Given the description of an element on the screen output the (x, y) to click on. 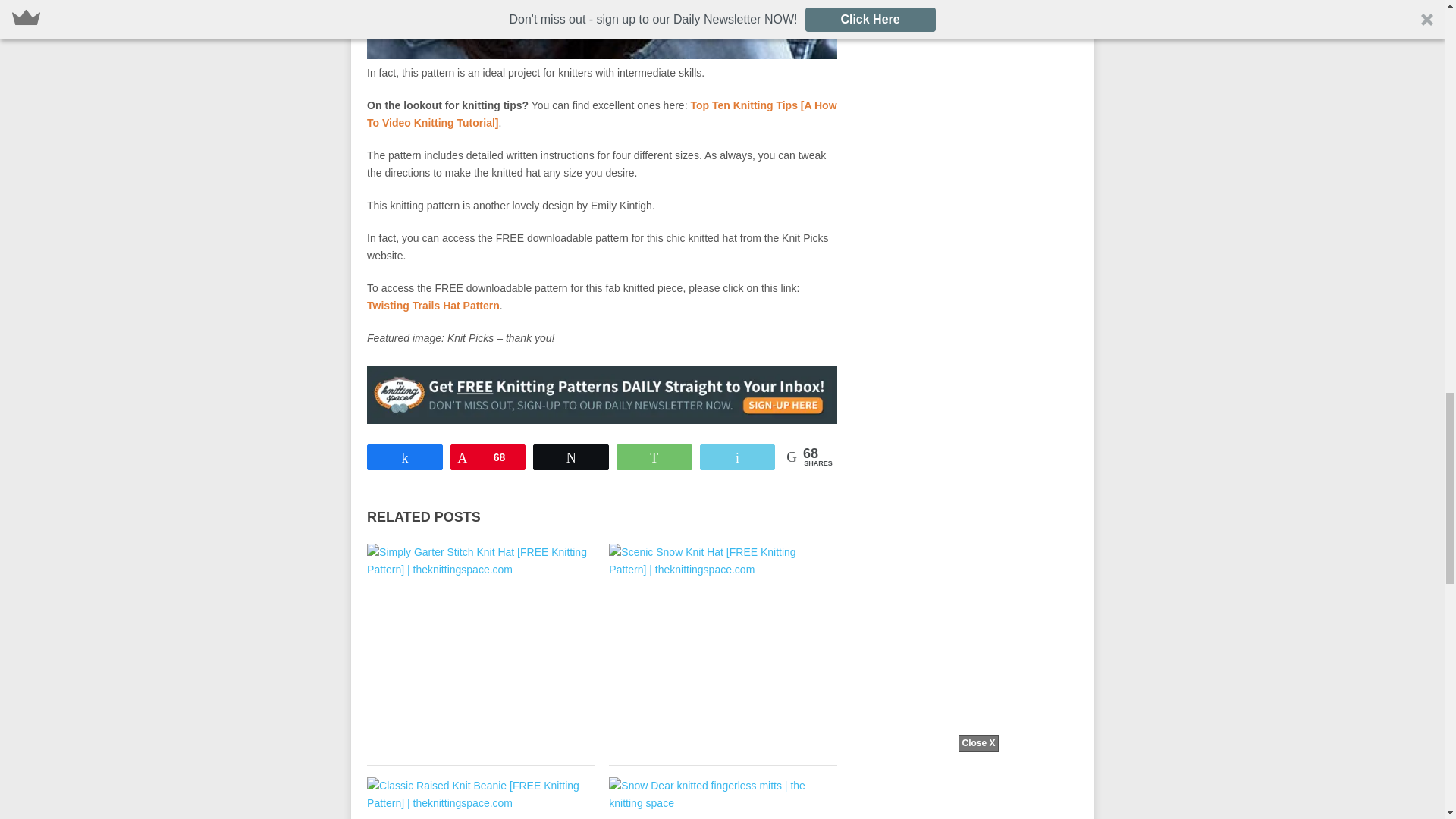
68 (488, 456)
Twisting Trails Hat Pattern (432, 305)
